Given the description of an element on the screen output the (x, y) to click on. 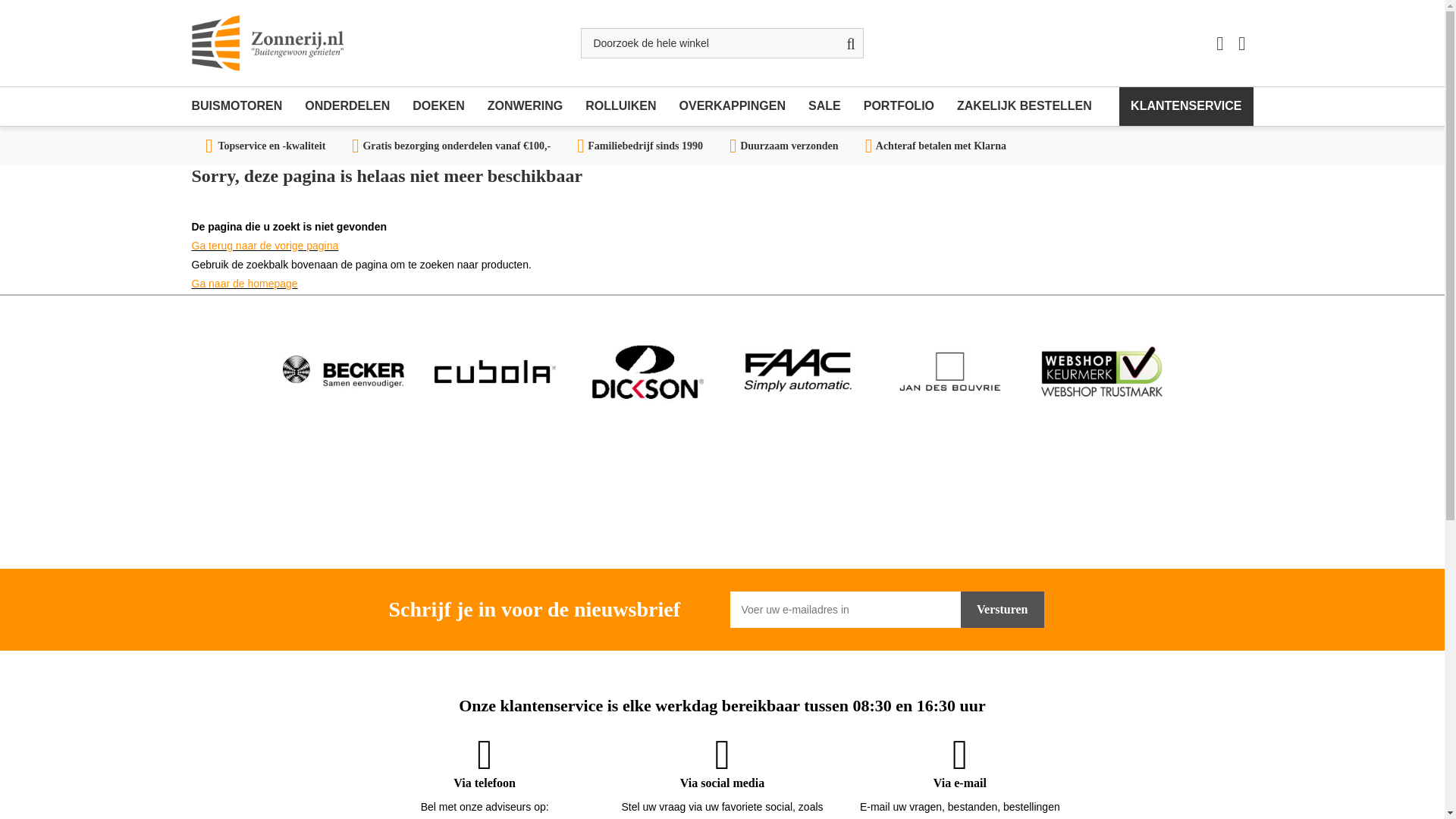
Onderdelen (347, 106)
Zonnerij.nl (266, 43)
BUISMOTOREN (242, 106)
Buismotoren (242, 106)
Zonnerij.nl (266, 42)
ONDERDELEN (347, 106)
